Given the description of an element on the screen output the (x, y) to click on. 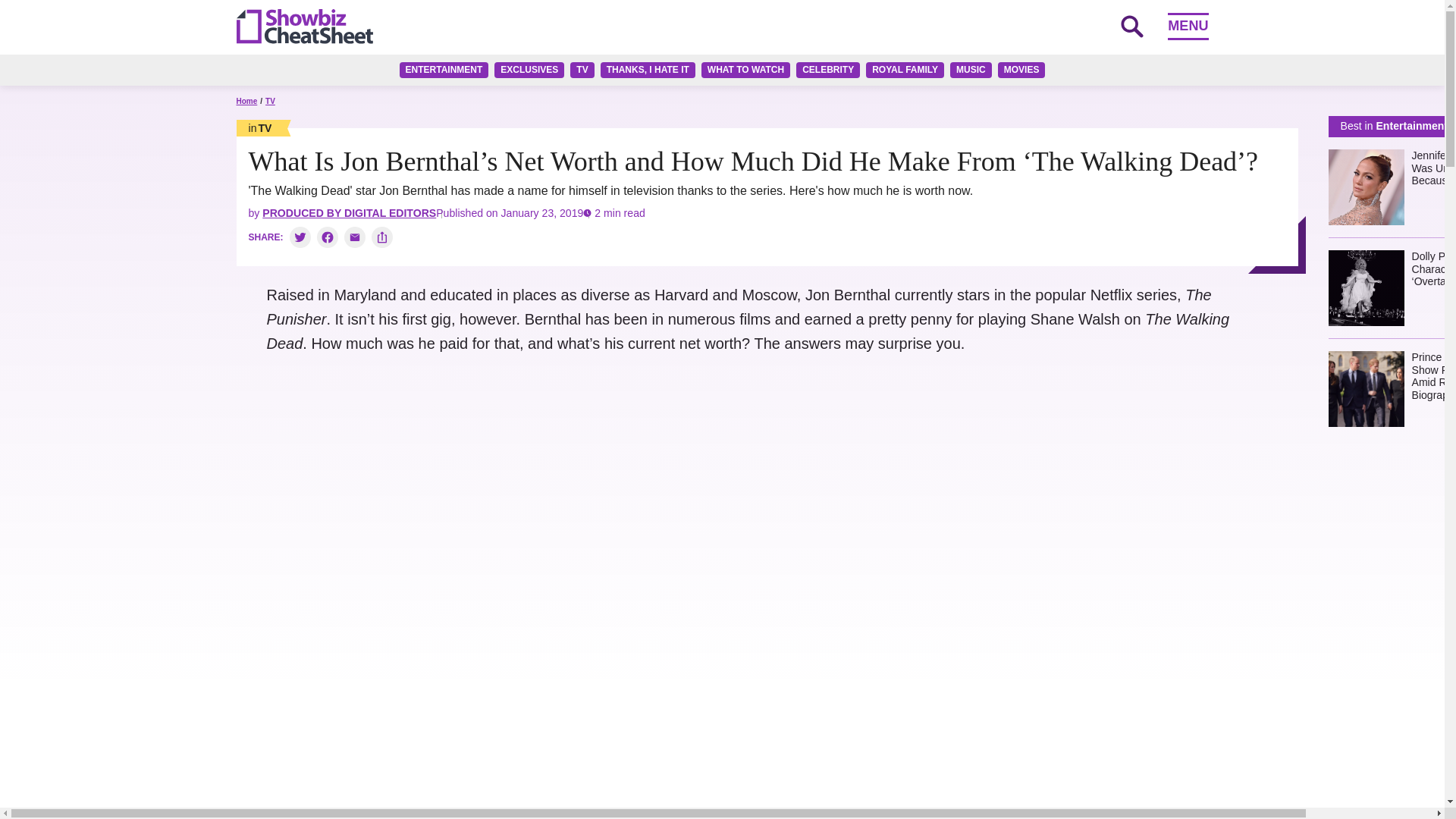
Copy link and share:  (382, 237)
Copy link (382, 237)
TV (259, 127)
ENTERTAINMENT (443, 69)
Showbiz Cheat Sheet (303, 26)
EXCLUSIVES (529, 69)
WHAT TO WATCH (745, 69)
CELEBRITY (828, 69)
TV (582, 69)
MOVIES (1021, 69)
